Given the description of an element on the screen output the (x, y) to click on. 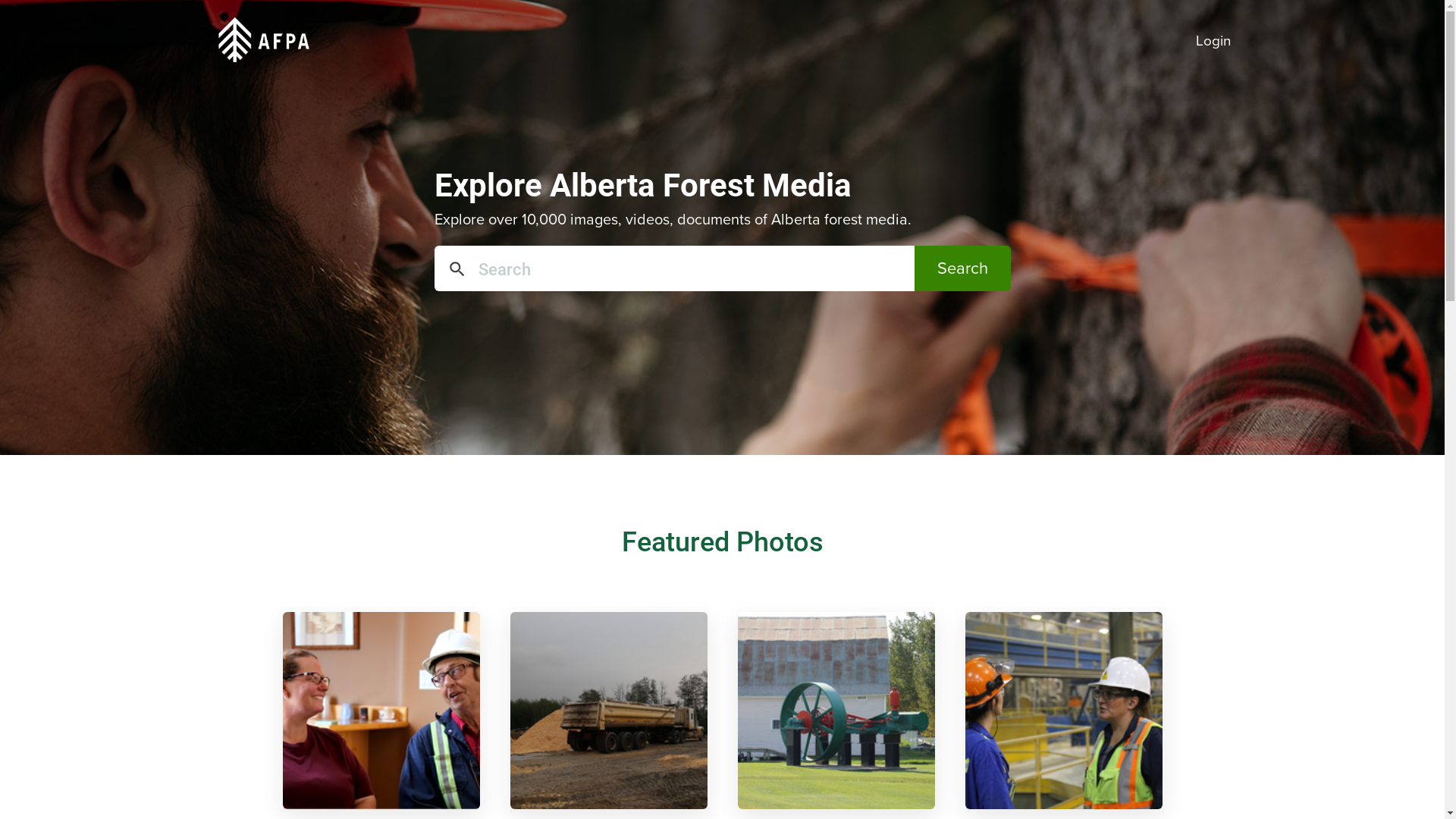
Search Element type: text (962, 268)
Login Element type: text (1212, 34)
